Given the description of an element on the screen output the (x, y) to click on. 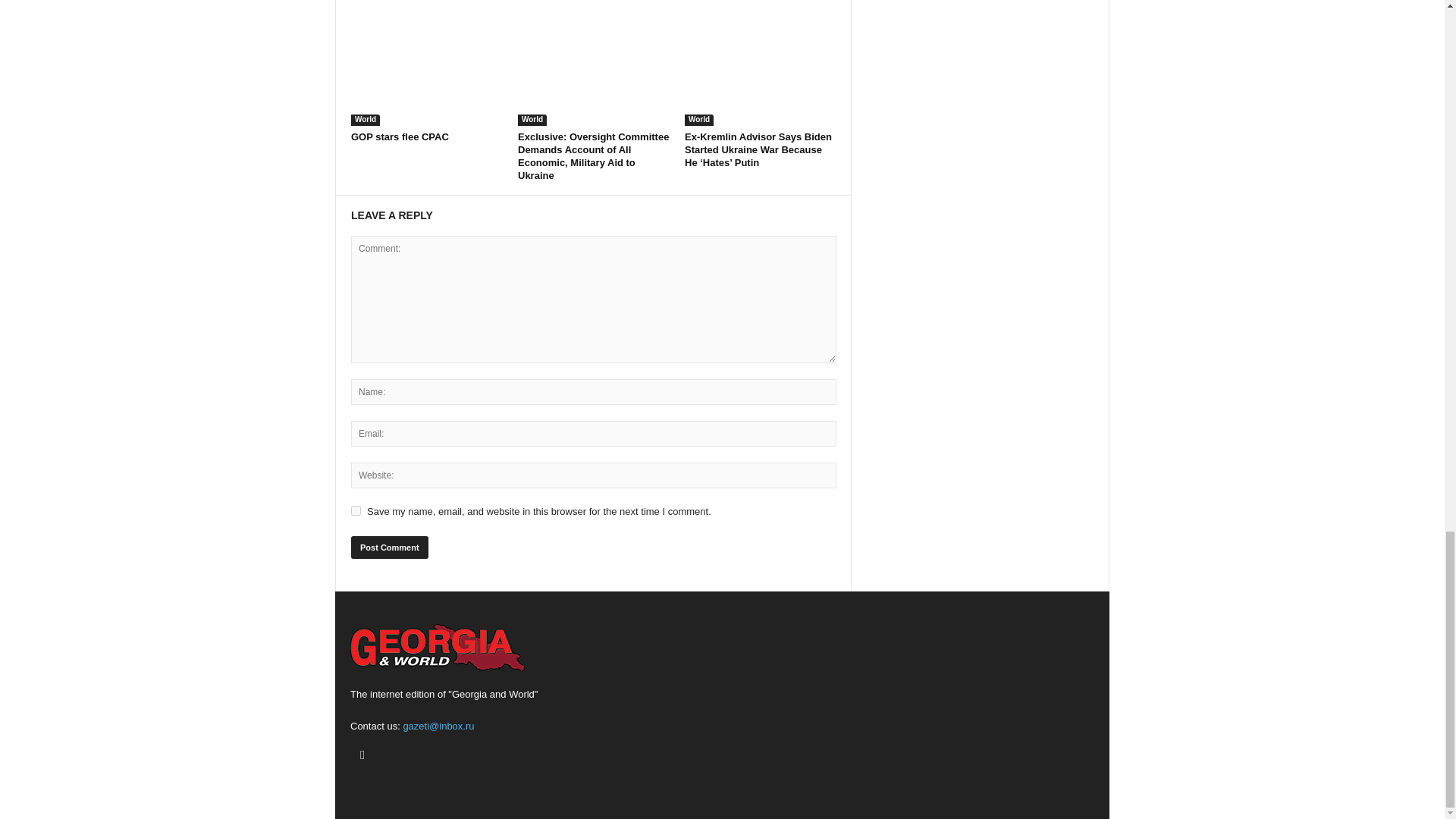
yes (355, 510)
Post Comment (389, 547)
